Given the description of an element on the screen output the (x, y) to click on. 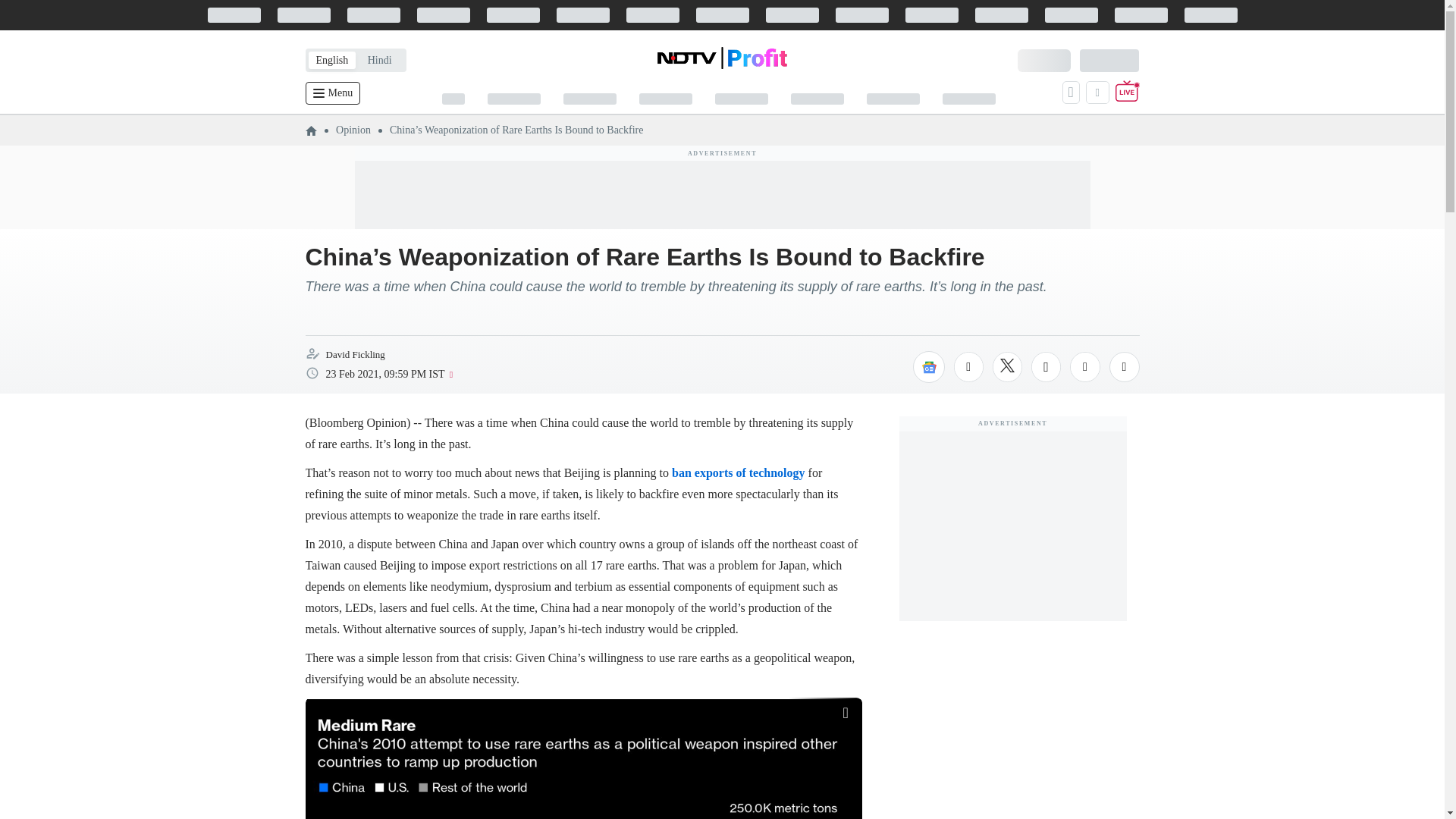
Hindi (379, 59)
Live TV (1127, 92)
Menu (331, 92)
English (331, 59)
Hindi (378, 59)
